Given the description of an element on the screen output the (x, y) to click on. 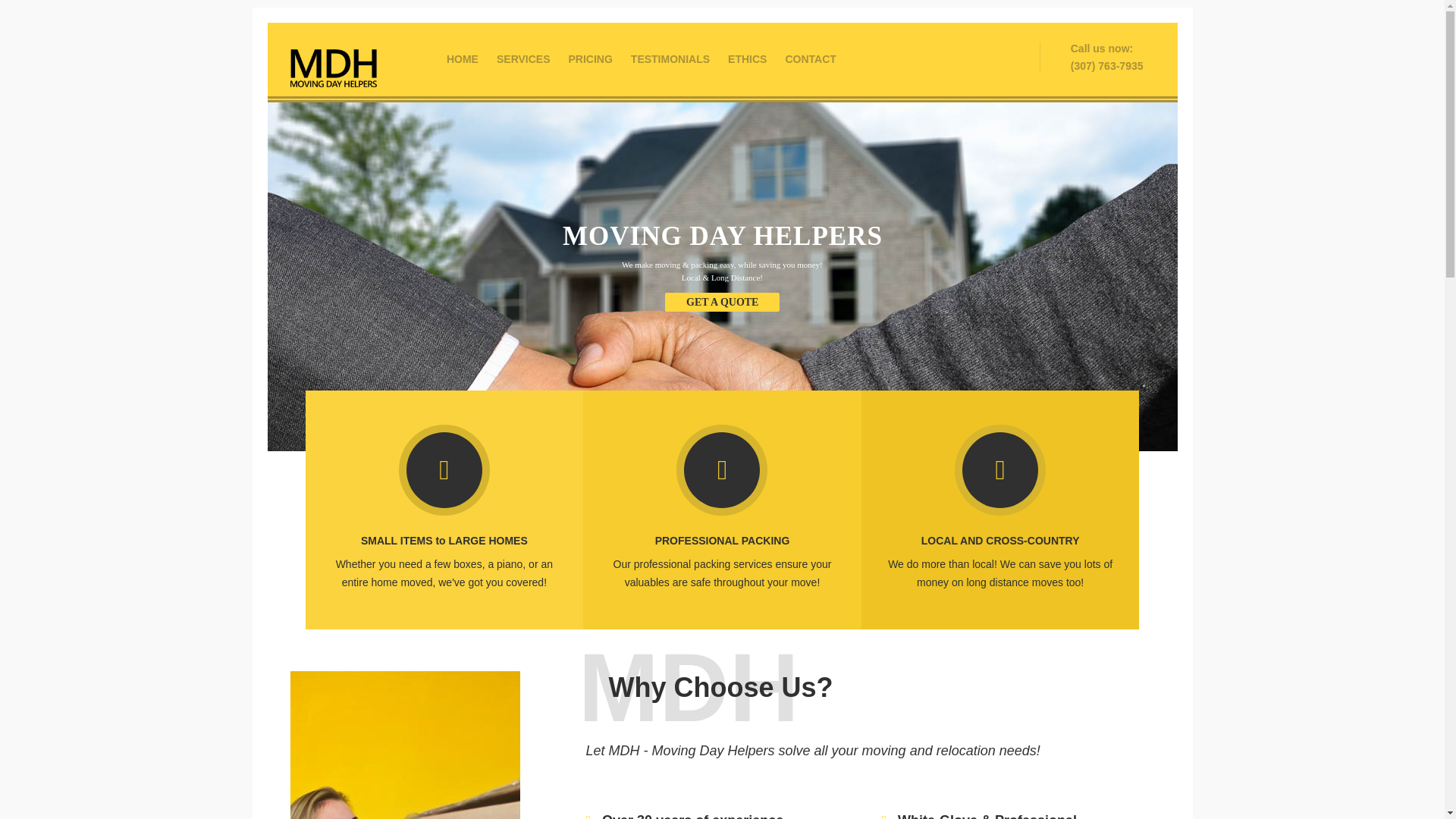
HOME (462, 59)
ETHICS (747, 59)
GET A QUOTE (721, 302)
PRICING (590, 59)
SERVICES (523, 59)
TESTIMONIALS (670, 59)
CONTACT (810, 59)
